Given the description of an element on the screen output the (x, y) to click on. 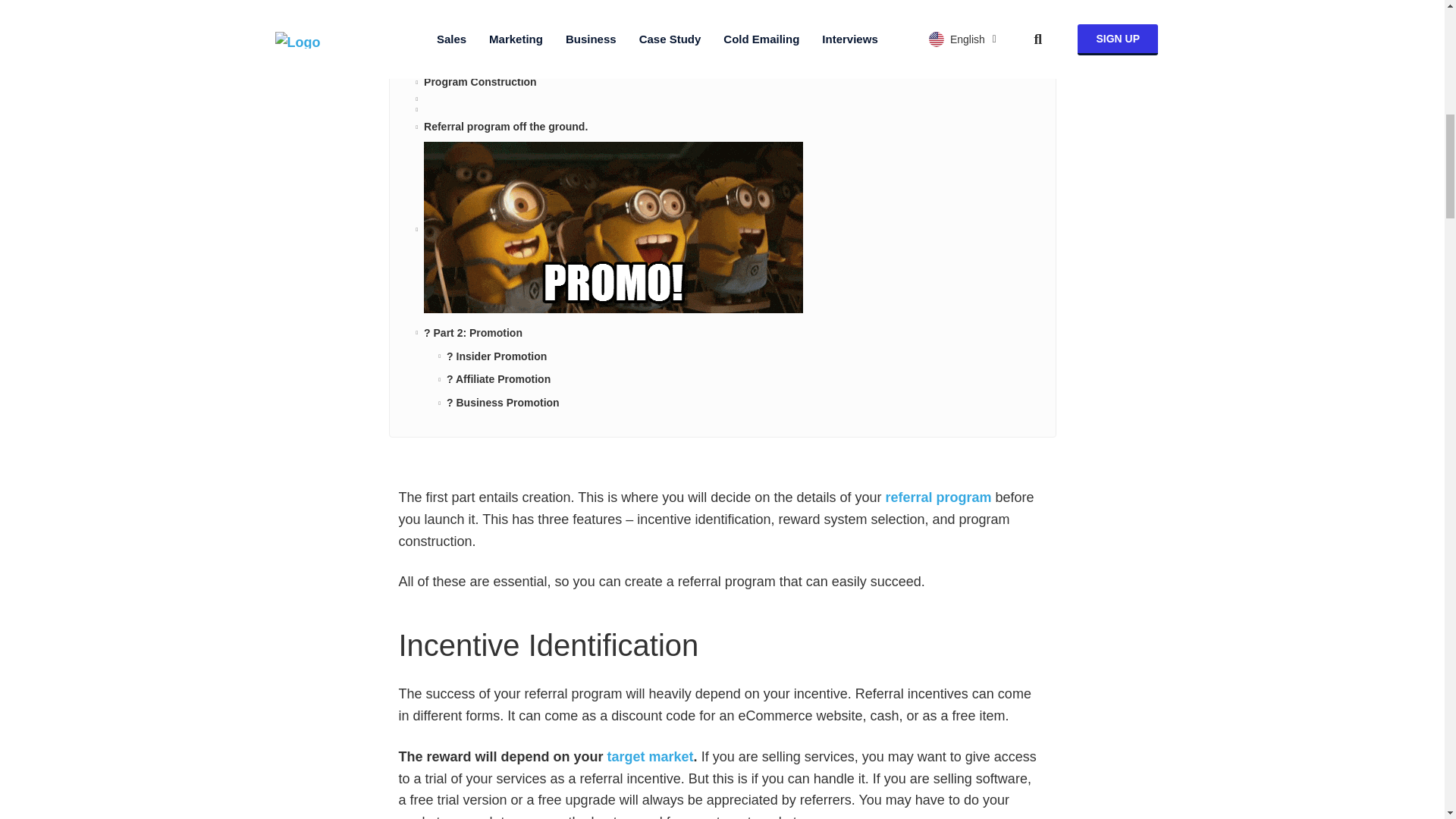
Program Construction (480, 82)
Reward System Selection (488, 59)
Incentive Identification (480, 36)
